Given the description of an element on the screen output the (x, y) to click on. 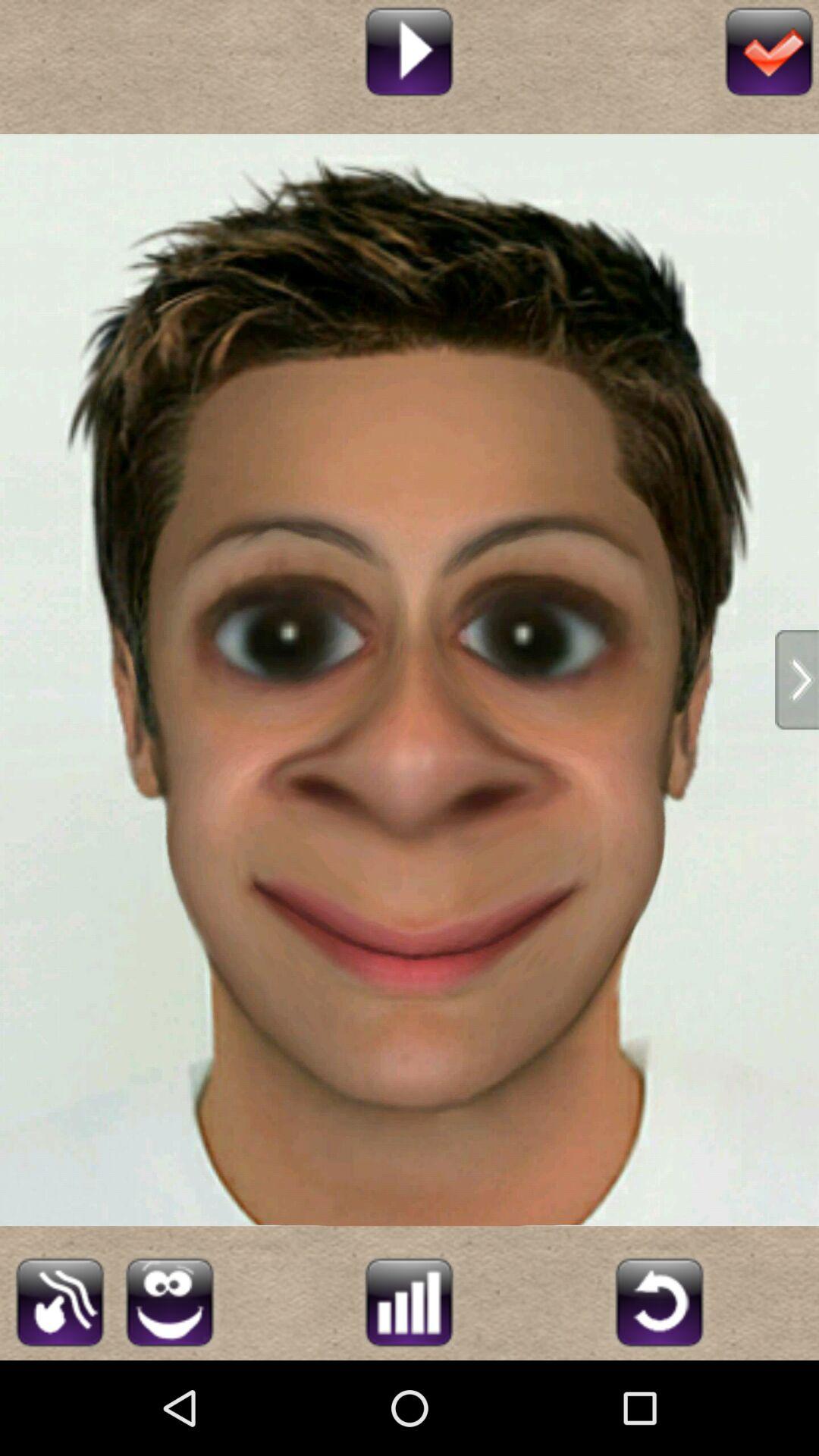
edit image (59, 1300)
